Given the description of an element on the screen output the (x, y) to click on. 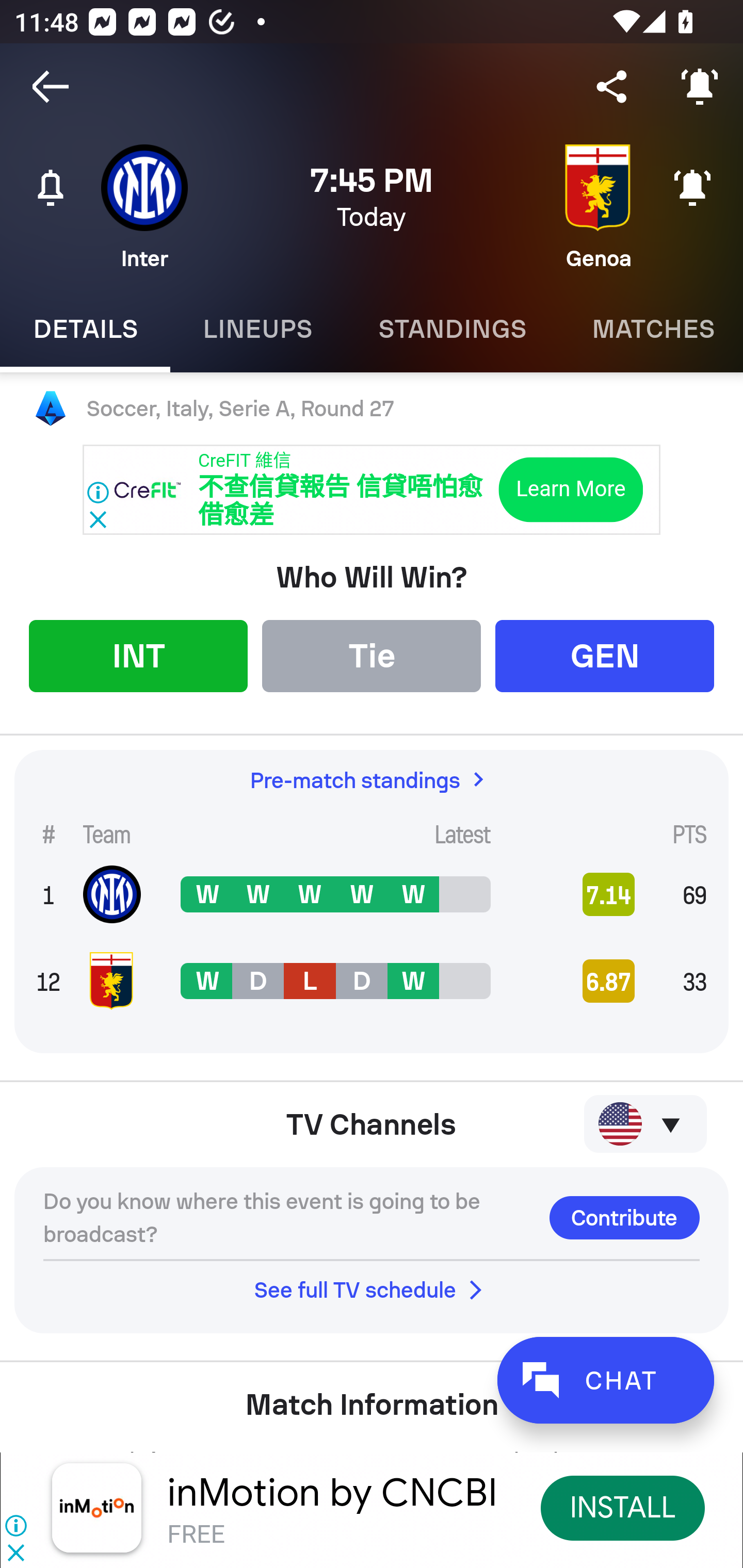
Navigate up (50, 86)
Lineups LINEUPS (257, 329)
Standings STANDINGS (451, 329)
Matches MATCHES (650, 329)
Soccer, Italy, Serie A, Round 27 (371, 409)
INT (137, 655)
Tie (371, 655)
GEN (604, 655)
Contribute (624, 1217)
See full TV schedule (371, 1289)
CHAT (605, 1380)
inMotion by CNCBI (332, 1493)
INSTALL (623, 1507)
FREE (195, 1533)
